Given the description of an element on the screen output the (x, y) to click on. 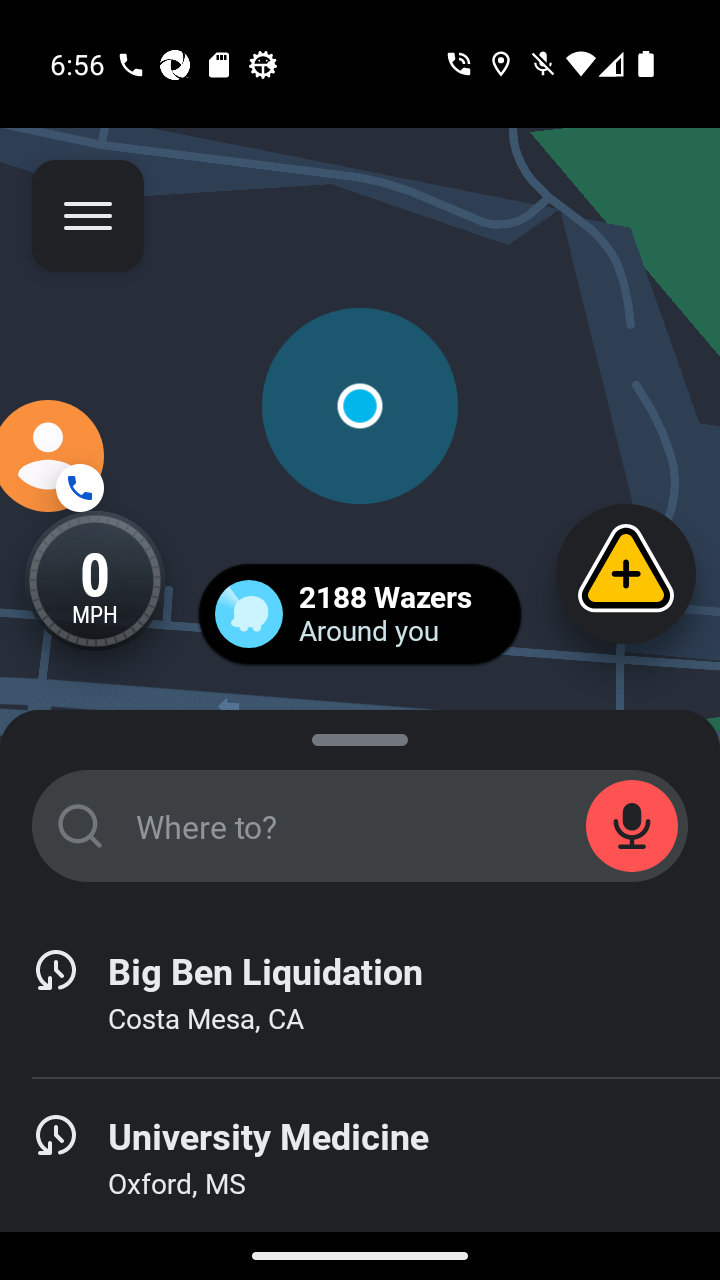
SUGGESTIONS_SHEET_DRAG_HANDLE (359, 735)
START_STATE_SEARCH_FIELD Where to? (359, 825)
Big Ben Liquidation Costa Mesa, CA (360, 994)
University Medicine Oxford, MS (360, 1160)
